Given the description of an element on the screen output the (x, y) to click on. 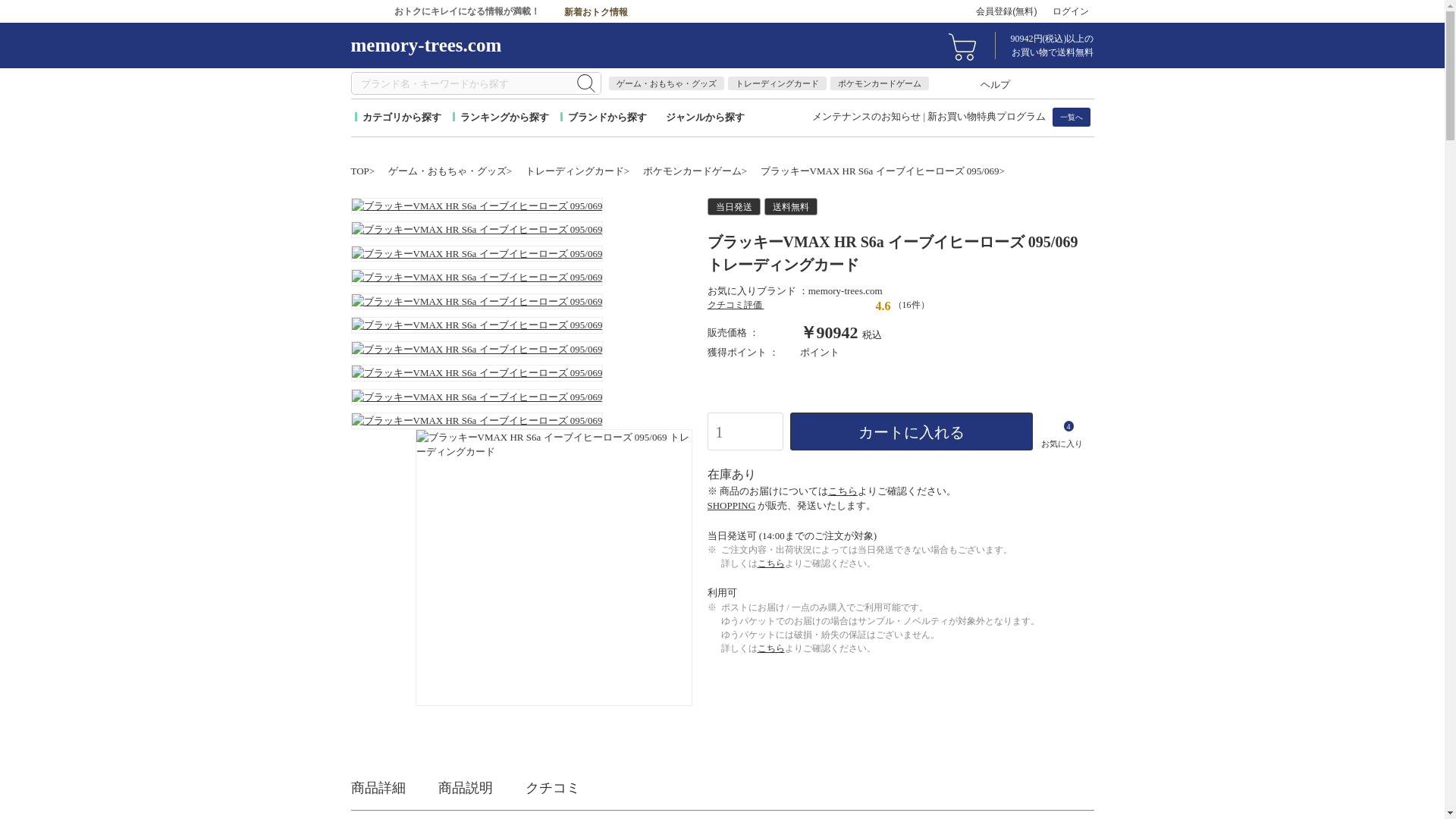
TOP (362, 170)
